Given the description of an element on the screen output the (x, y) to click on. 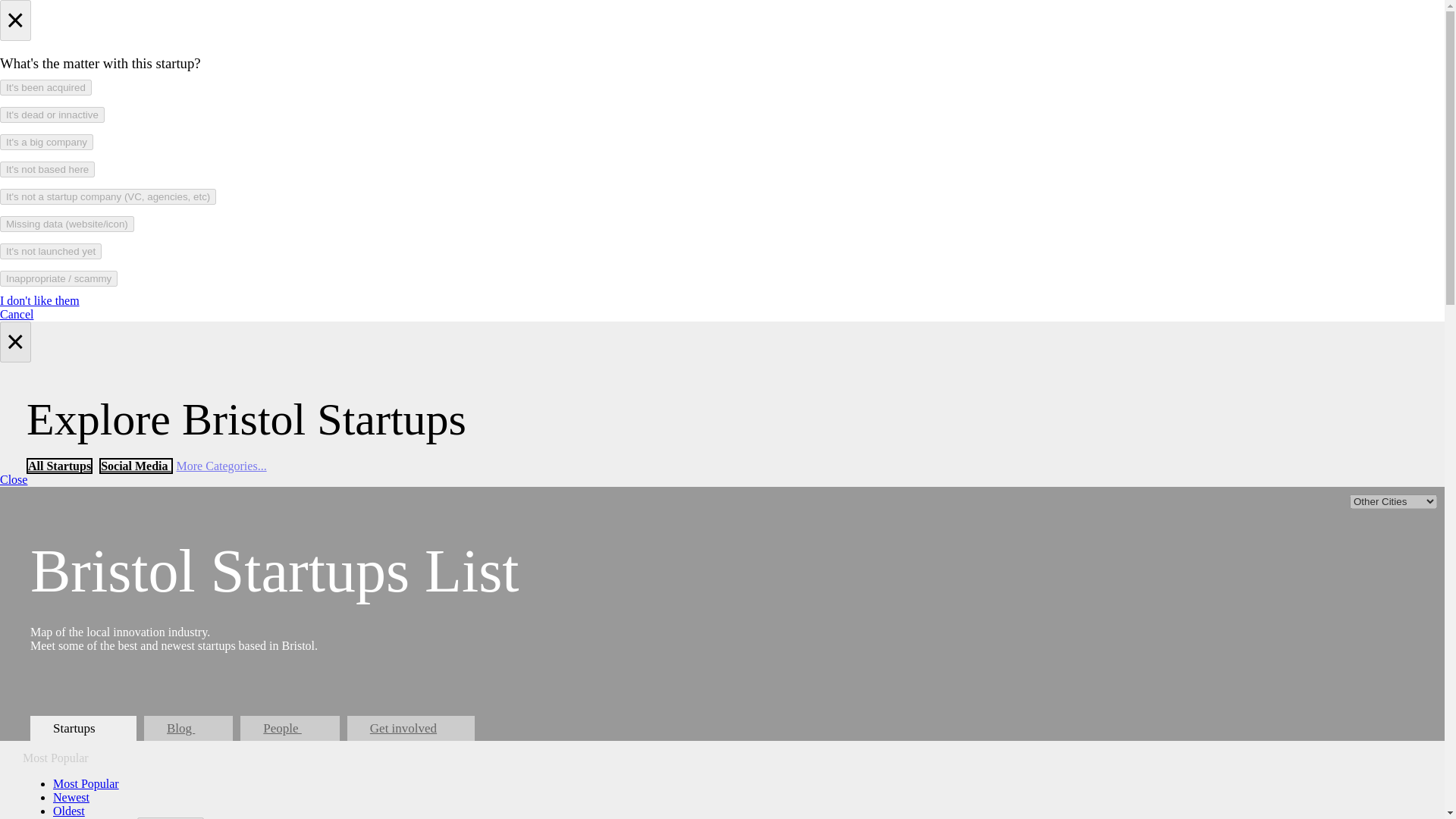
Cancel (16, 314)
It's not launched yet (50, 251)
All Startups (59, 465)
It's been acquired (45, 87)
It's not based here (47, 169)
It's a big company (46, 141)
I don't like them (40, 300)
Social Media (135, 465)
More Categories... (221, 465)
Close (13, 479)
